Given the description of an element on the screen output the (x, y) to click on. 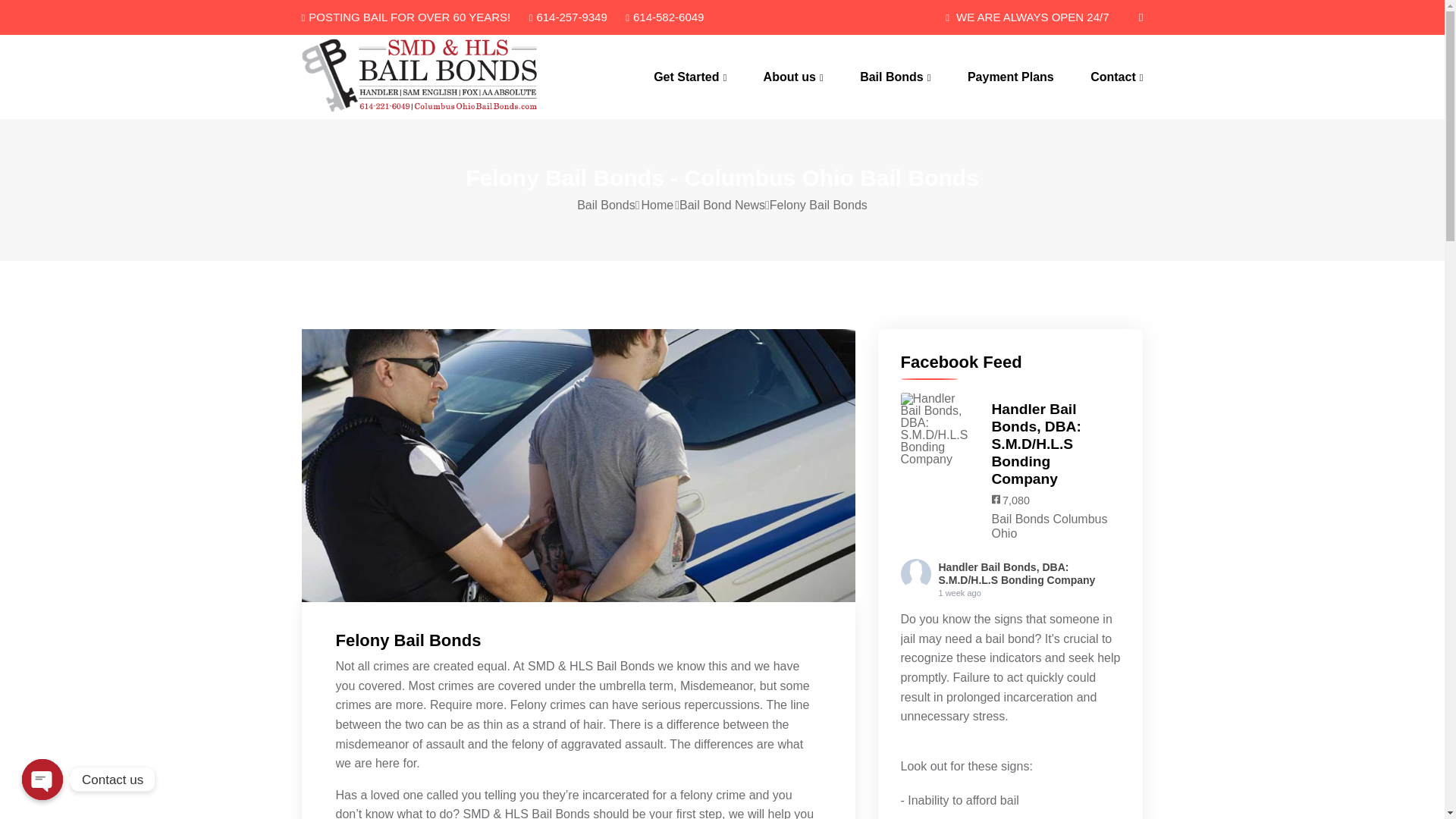
Contact (1116, 76)
Payment Plans (1011, 76)
Get Started (689, 76)
614-582-6049 (664, 17)
About us (793, 76)
Bail Bonds (895, 76)
614-257-9349 (568, 17)
Columbus Ohio Bail Bonds (398, 76)
